Given the description of an element on the screen output the (x, y) to click on. 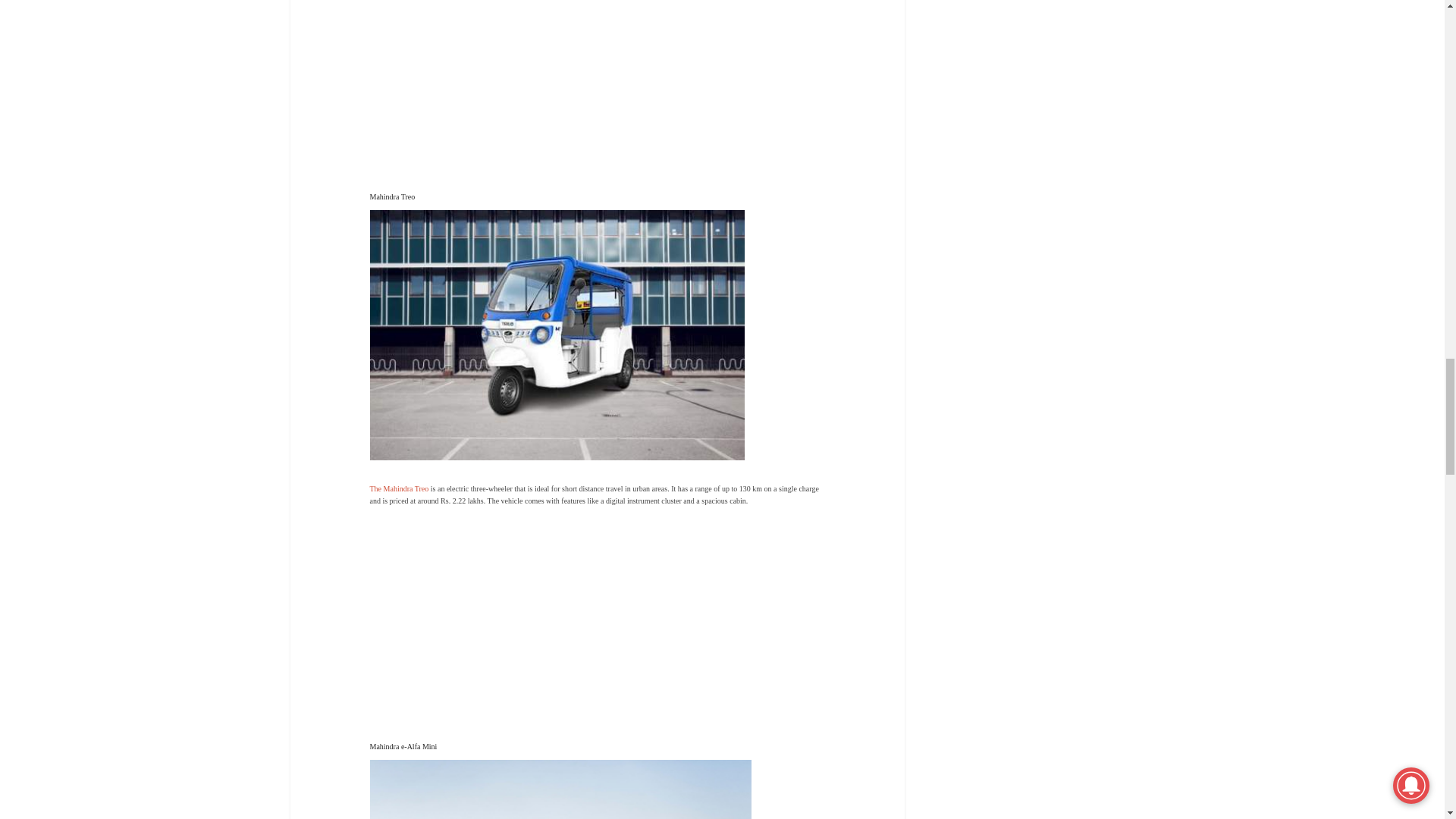
The Mahindra Treo (399, 488)
